Given the description of an element on the screen output the (x, y) to click on. 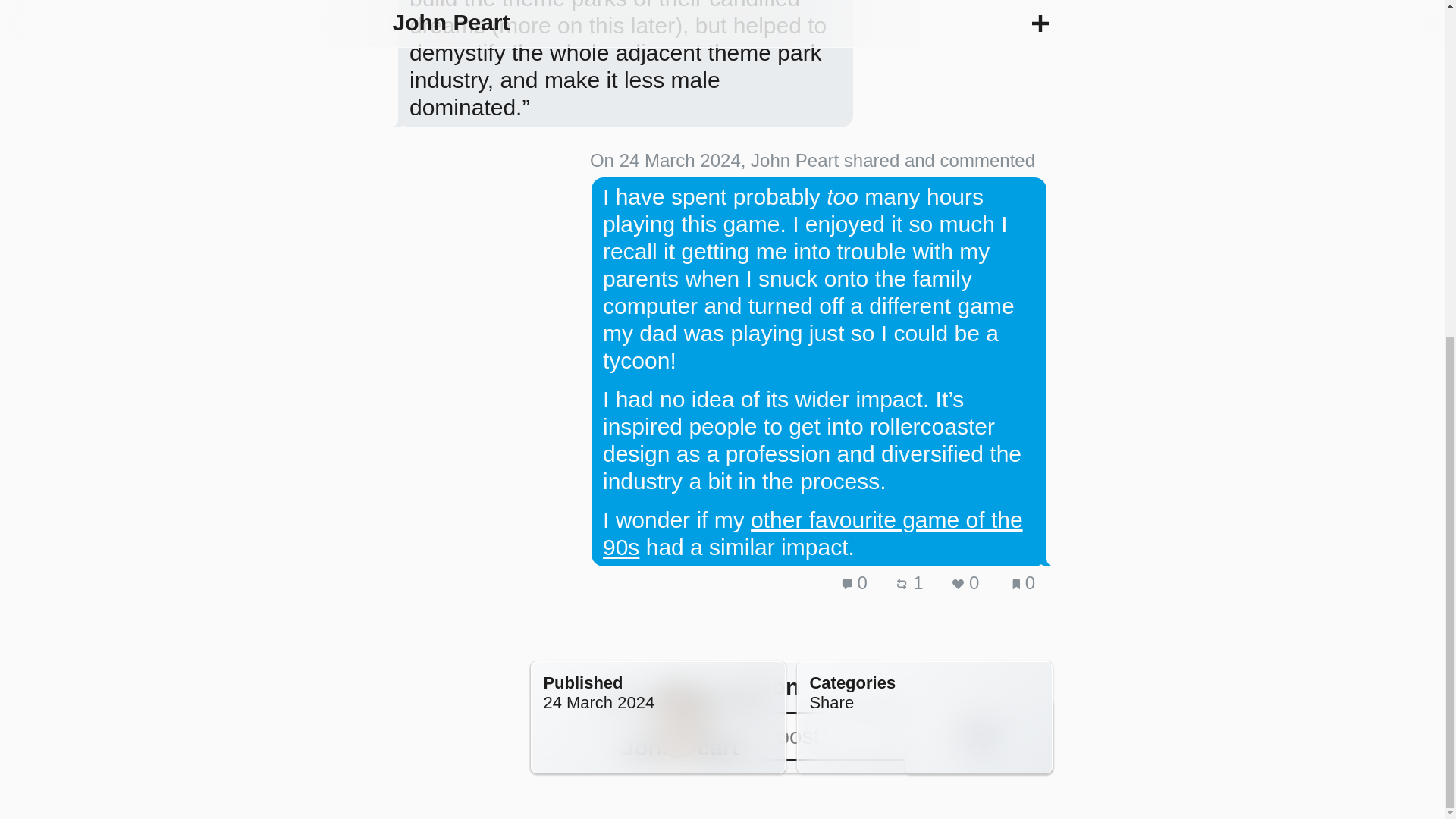
shared and commented (939, 159)
www.johnpe.art (679, 697)
Send Webmention (1014, 736)
John Peart (679, 747)
Follow me on Mastodon (978, 735)
24 March 2024 (598, 701)
Visit my website (679, 722)
John Peart (794, 159)
other favourite game of the 90s (812, 532)
